Given the description of an element on the screen output the (x, y) to click on. 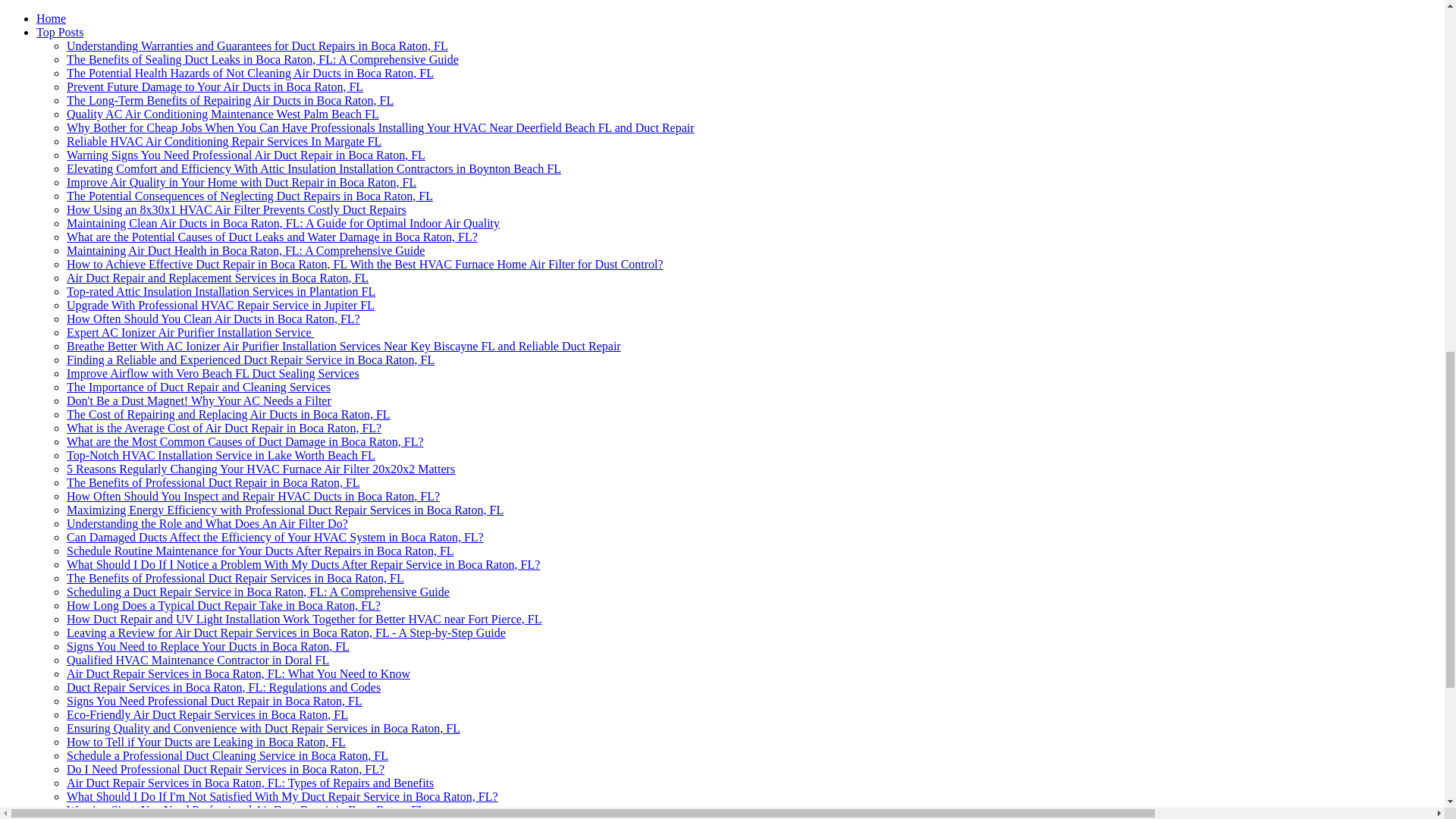
The Importance of Duct Repair and Cleaning Services (198, 386)
How Often Should You Clean Air Ducts in Boca Raton, FL? (212, 318)
Quality AC Air Conditioning Maintenance West Palm Beach FL (222, 113)
Top Posts (59, 31)
